Given the description of an element on the screen output the (x, y) to click on. 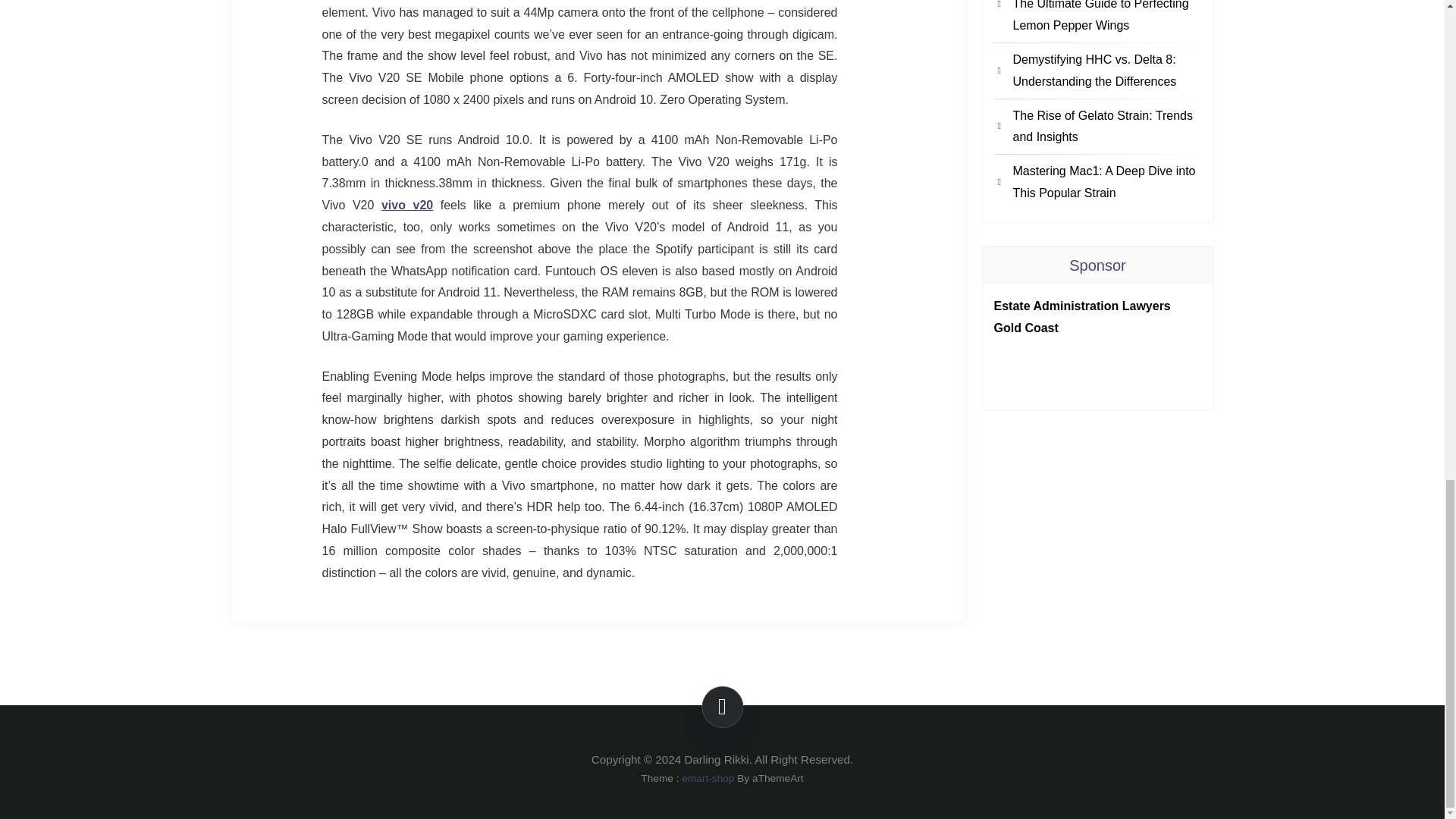
Mastering Mac1: A Deep Dive into This Popular Strain (1107, 182)
Demystifying HHC vs. Delta 8: Understanding the Differences (1107, 71)
vivo v20 (406, 205)
emart-shop (707, 778)
The Rise of Gelato Strain: Trends and Insights (1107, 127)
Estate Administration Lawyers Gold Coast (1081, 316)
